Given the description of an element on the screen output the (x, y) to click on. 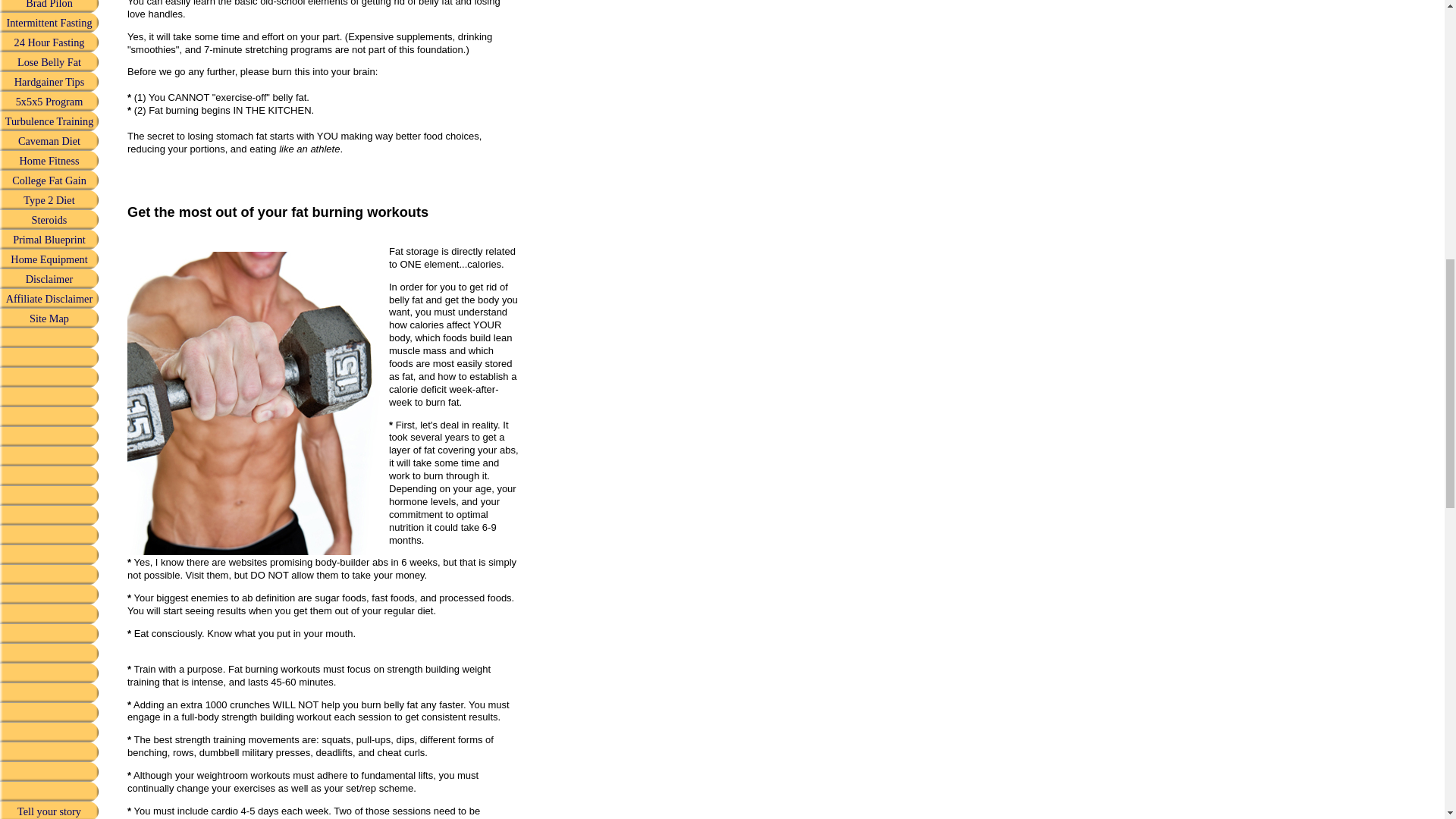
5x5x5 Program (49, 101)
Turbulence Training (49, 121)
Lose Belly Fat (49, 62)
Brad Pilon (49, 6)
24 Hour Fasting (49, 42)
Hardgainer Tips (49, 81)
Caveman Diet (49, 140)
Intermittent Fasting (49, 22)
